Given the description of an element on the screen output the (x, y) to click on. 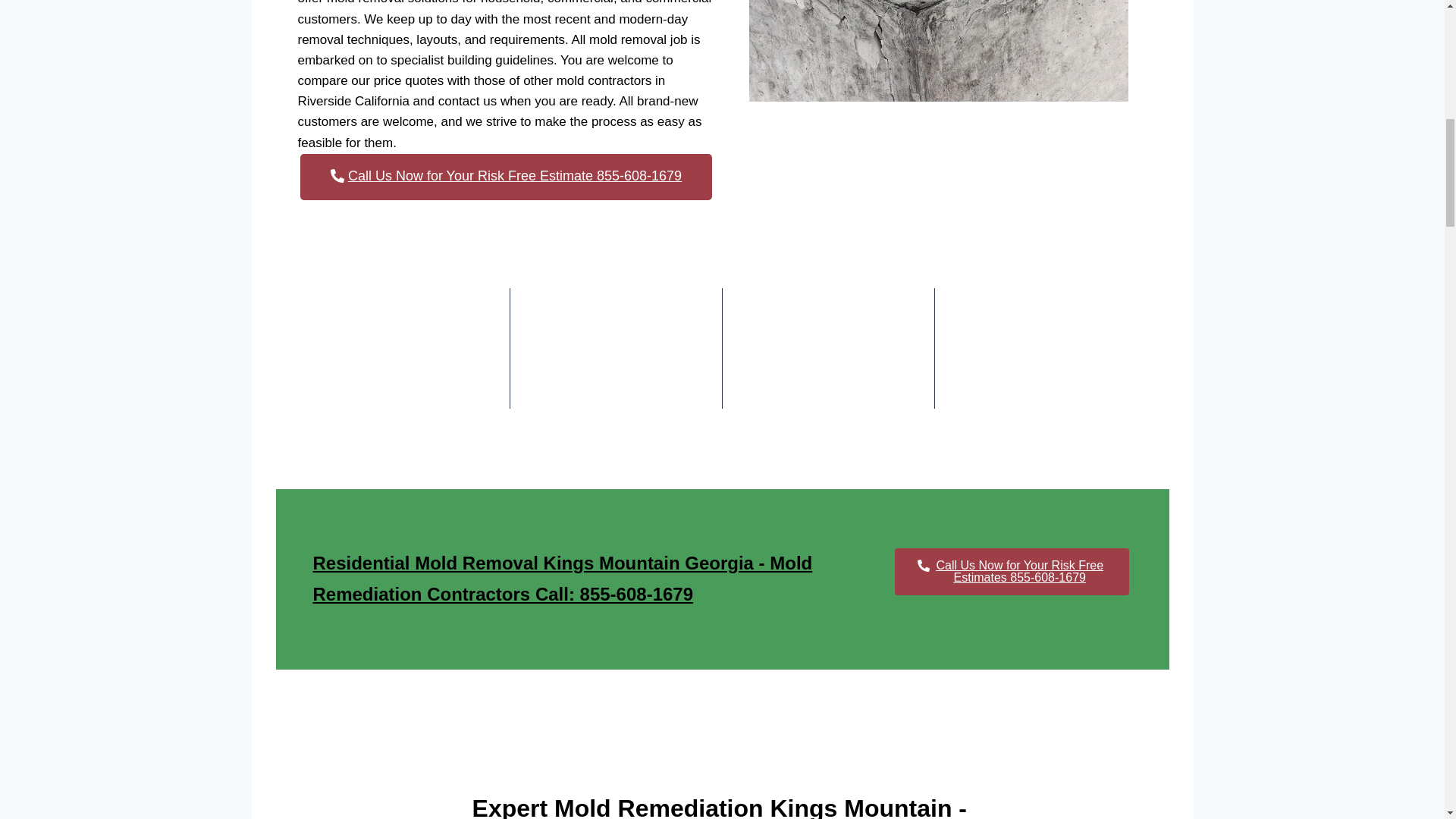
Call Us Now for Your Risk Free Estimate 855-608-1679 (505, 176)
Call Us Now for Your Risk Free Estimates 855-608-1679 (1012, 571)
